Given the description of an element on the screen output the (x, y) to click on. 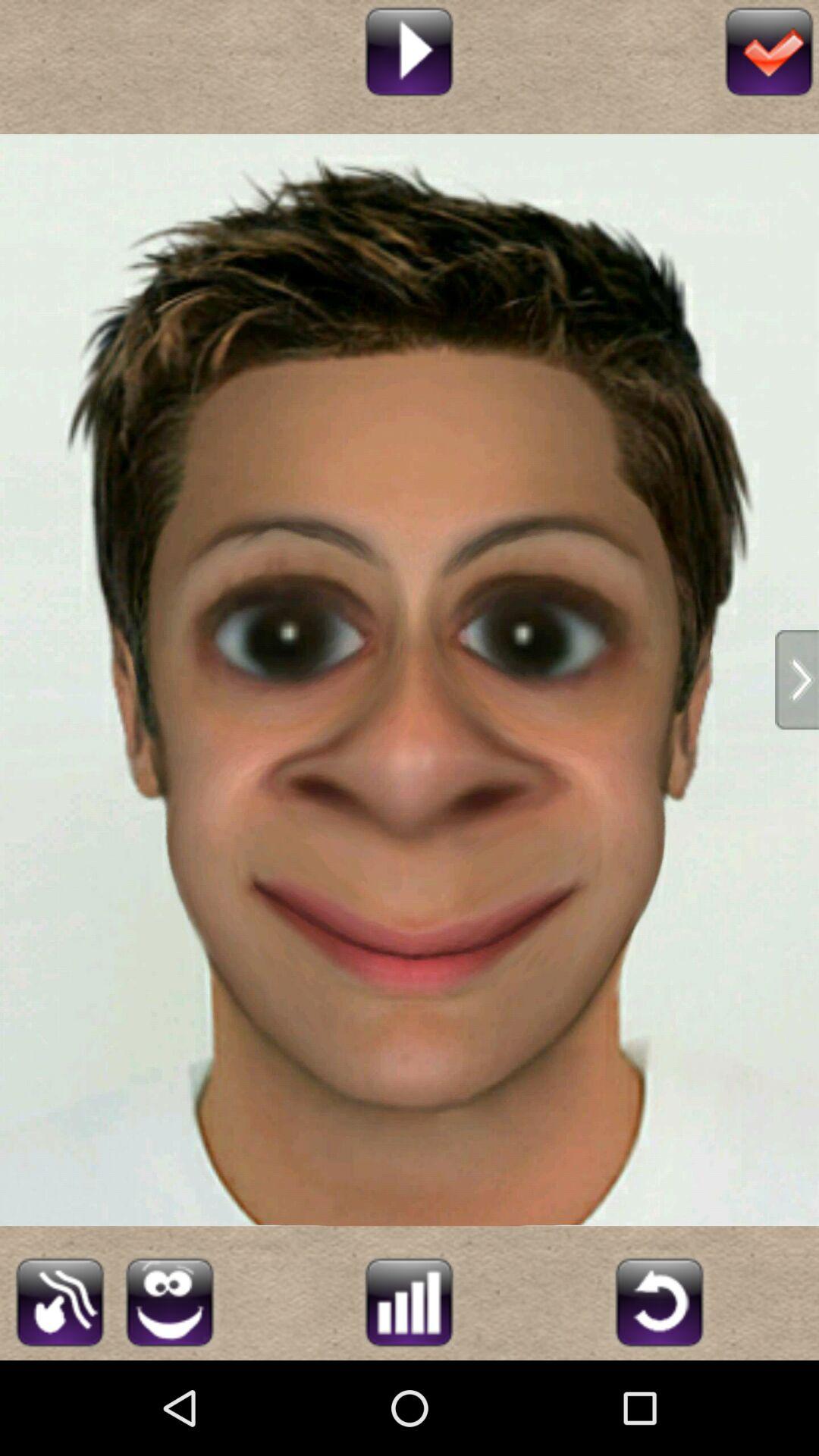
refresh (659, 1300)
